Given the description of an element on the screen output the (x, y) to click on. 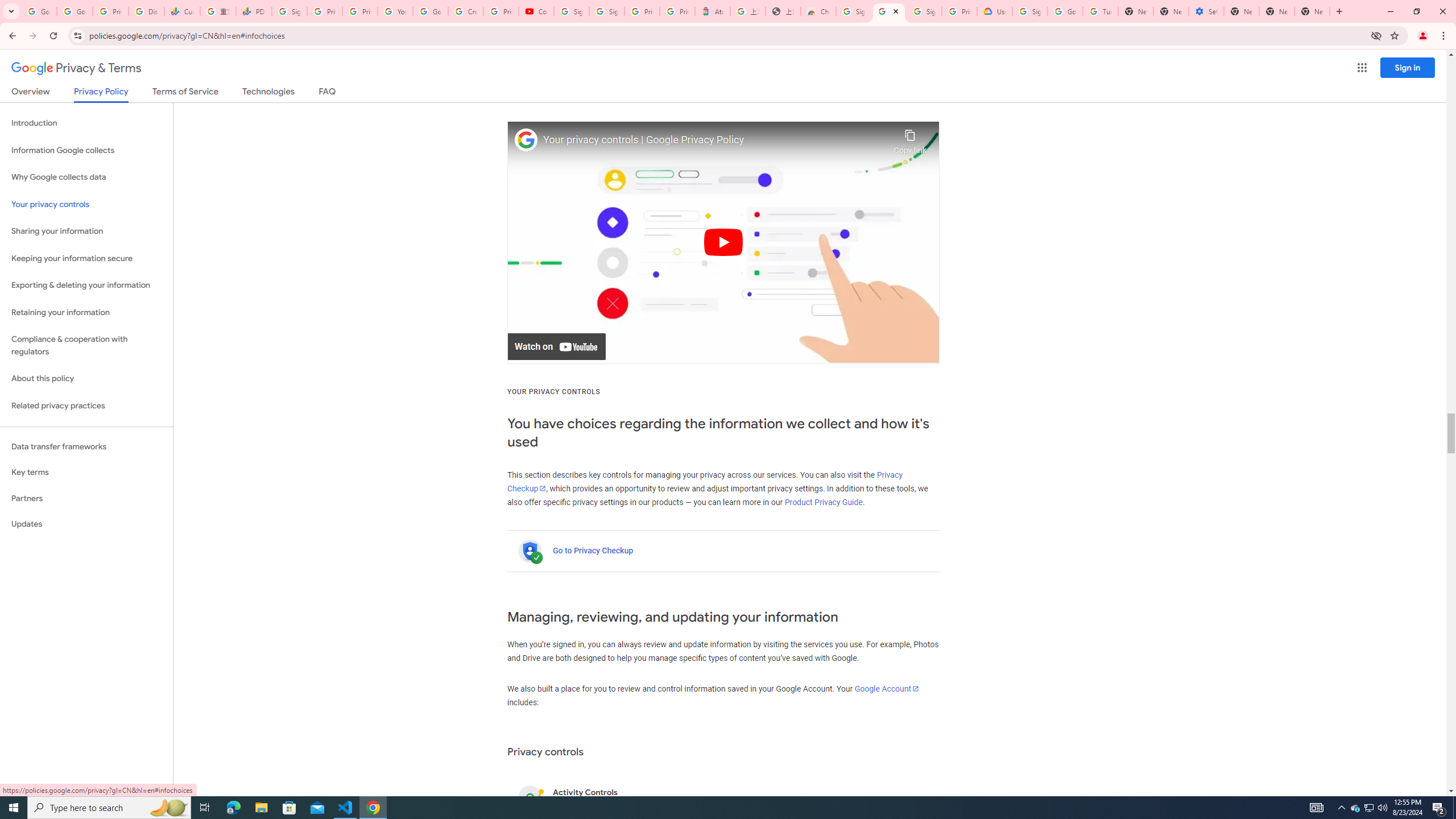
Why Google collects data (86, 176)
Partners (86, 497)
Atour Hotel - Google hotels (712, 11)
Sign in - Google Accounts (853, 11)
Product Privacy Guide (823, 501)
Sharing your information (86, 230)
